Given the description of an element on the screen output the (x, y) to click on. 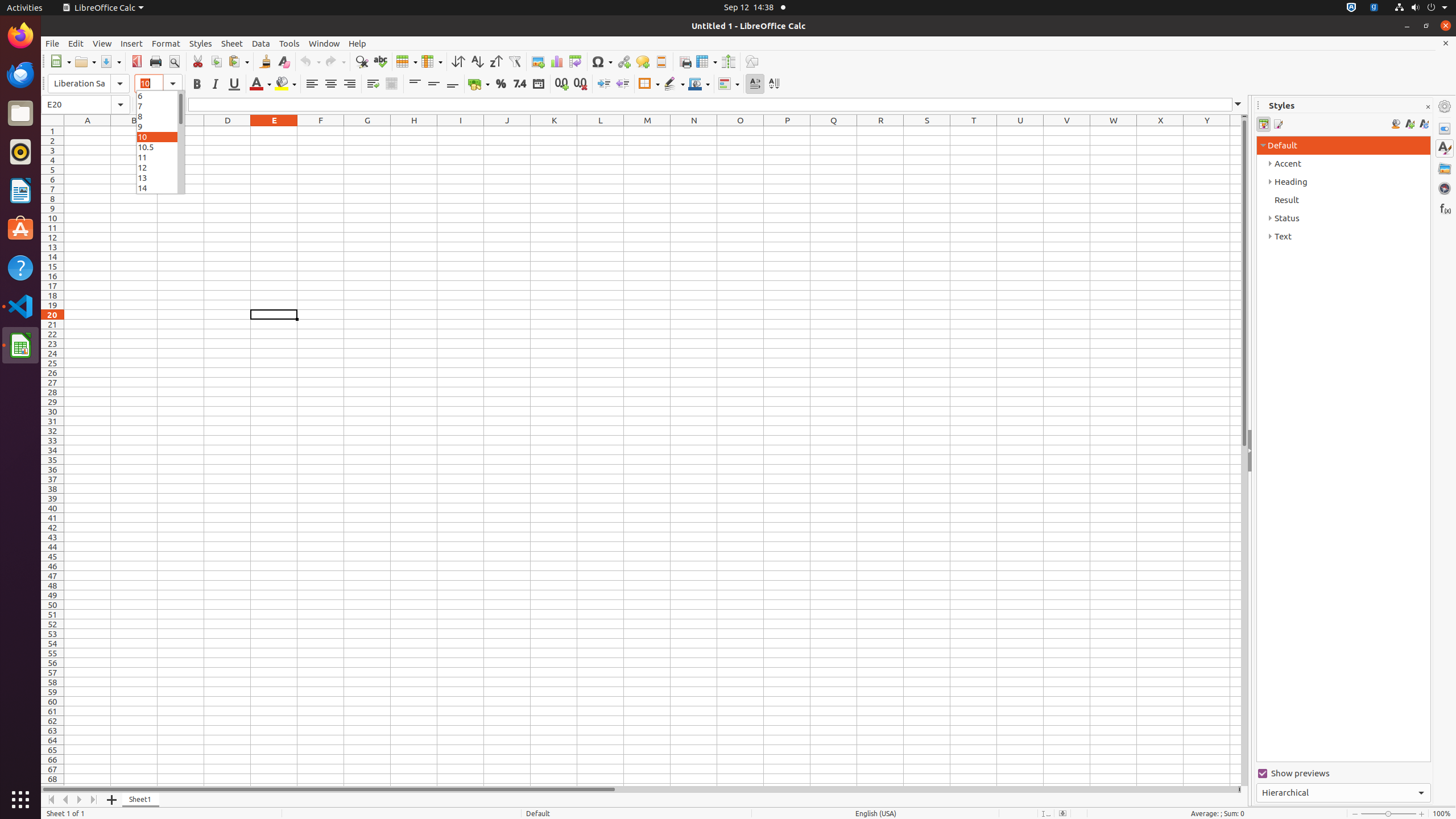
S1 Element type: table-cell (926, 130)
9 Element type: list-item (160, 126)
P1 Element type: table-cell (786, 130)
U1 Element type: table-cell (1020, 130)
V1 Element type: table-cell (1066, 130)
